Given the description of an element on the screen output the (x, y) to click on. 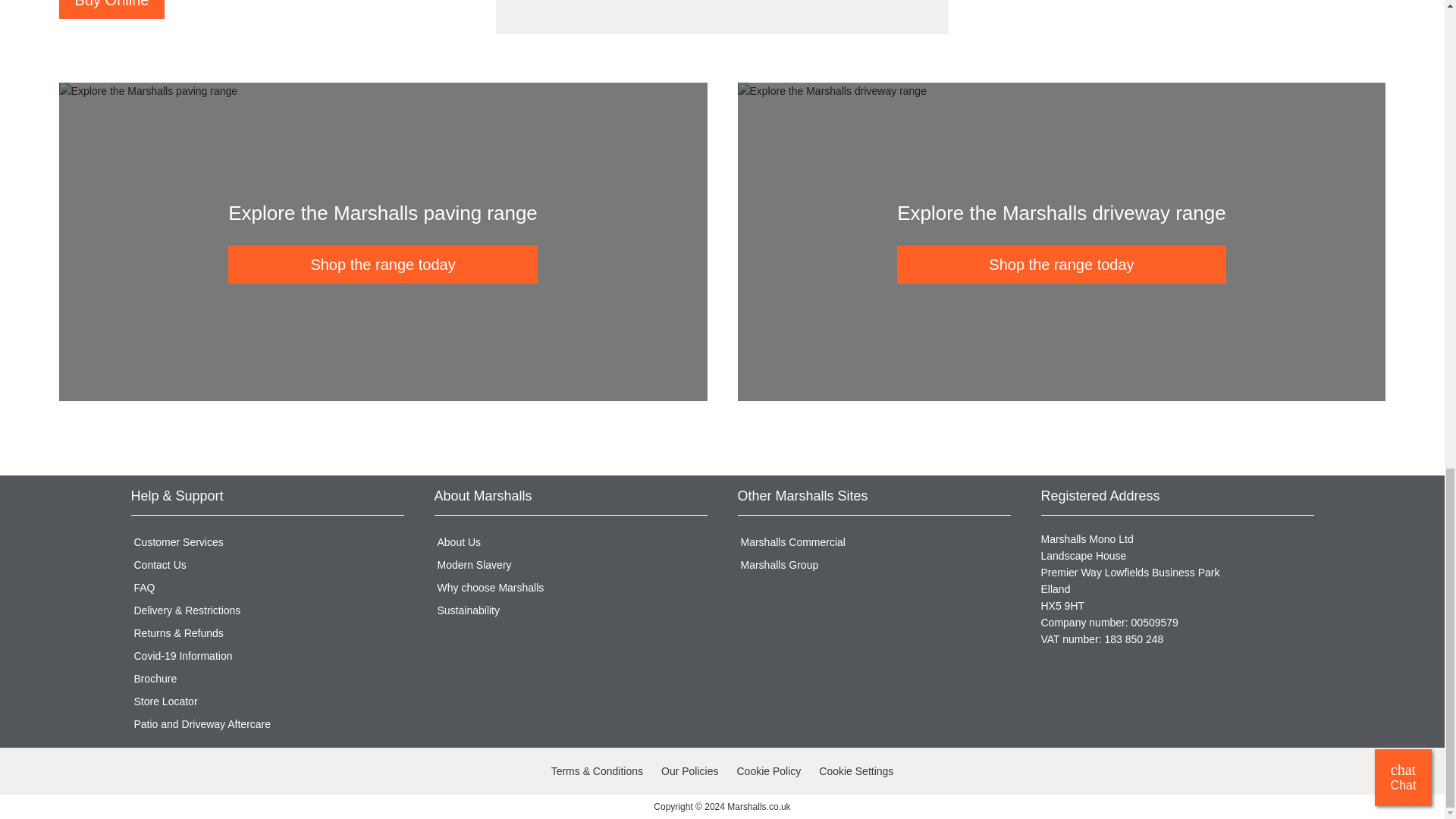
Visa Debit (176, 772)
PayPal (240, 772)
Visa Electron (208, 772)
Maestro (304, 772)
Mastercard (272, 772)
Visa (144, 772)
